Given the description of an element on the screen output the (x, y) to click on. 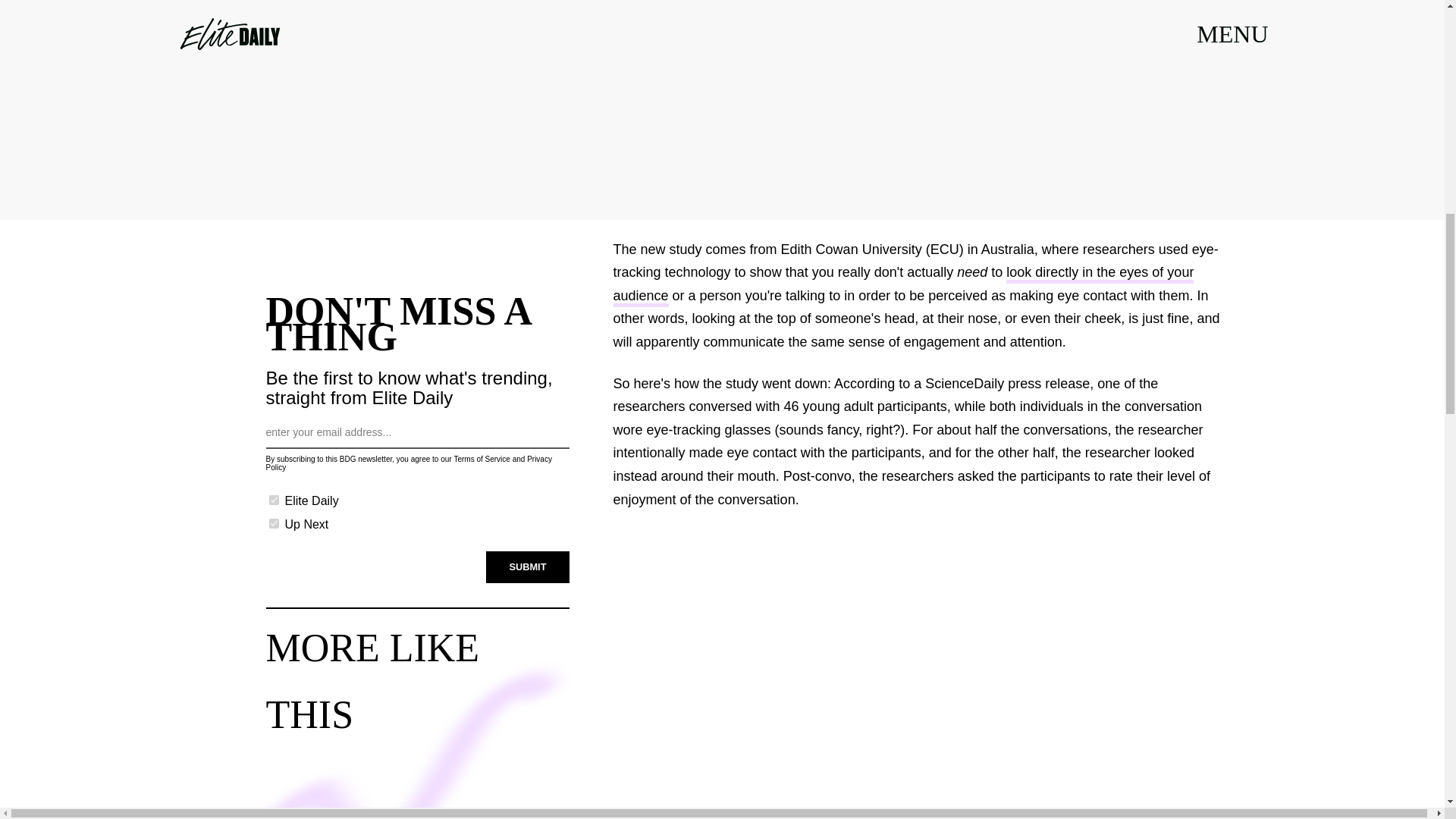
Terms of Service (480, 459)
look directly in the eyes of your audience (902, 285)
Privacy Policy (407, 463)
SUBMIT (527, 567)
